Given the description of an element on the screen output the (x, y) to click on. 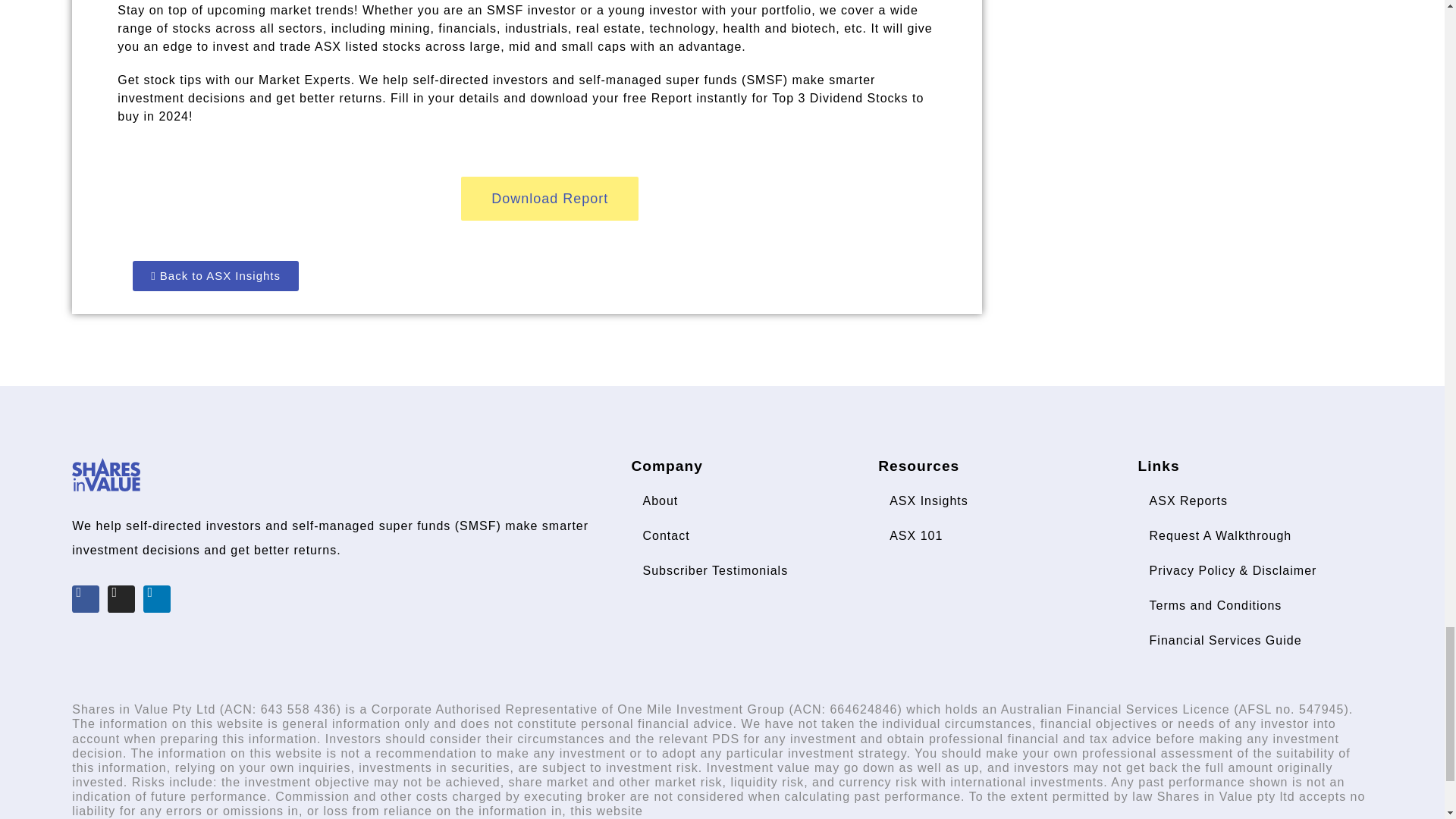
Download Report (549, 198)
Back to ASX Insights (215, 276)
